Given the description of an element on the screen output the (x, y) to click on. 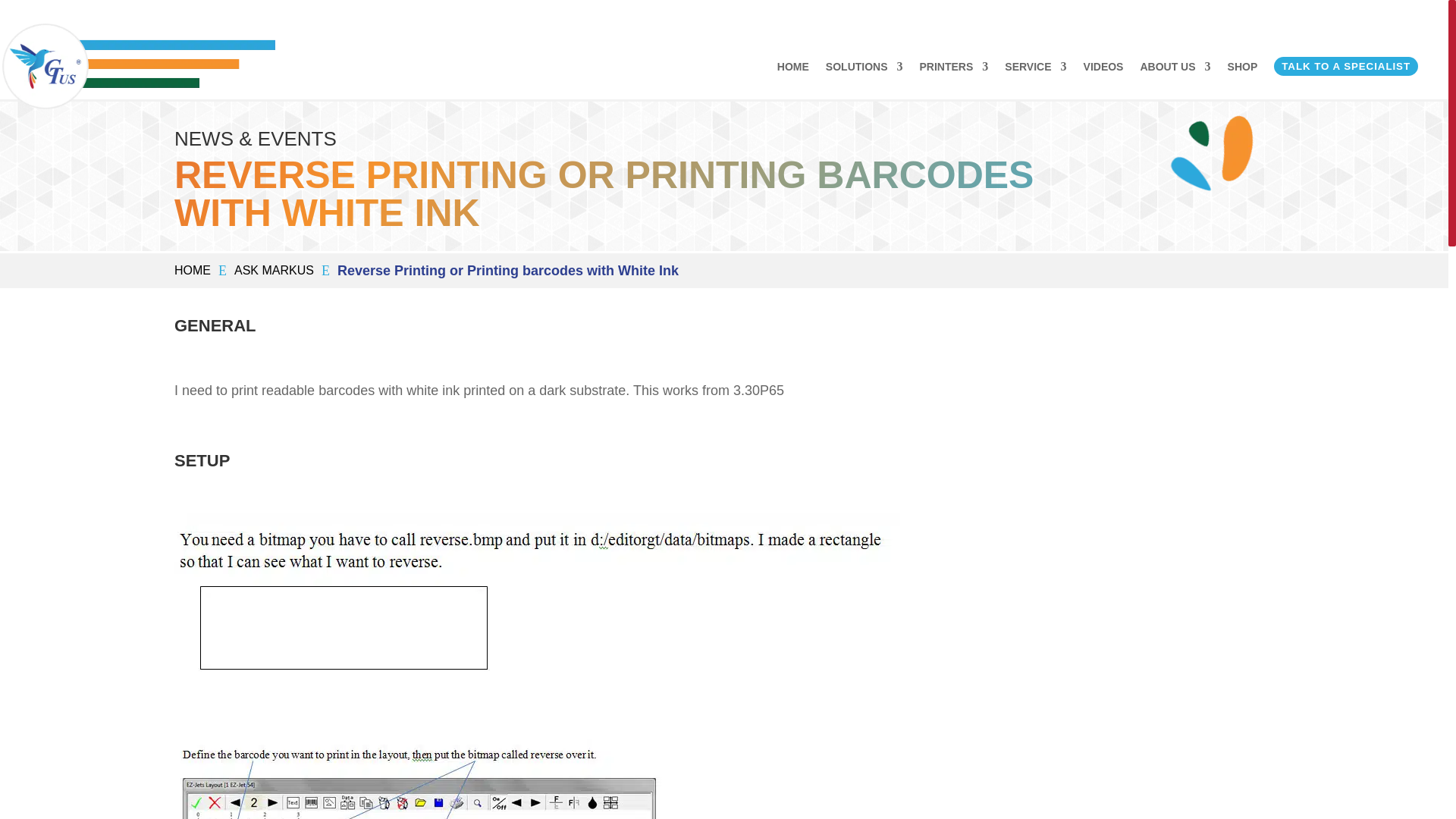
ABOUT US (1174, 66)
ASK MARKUS (274, 270)
HOME (192, 270)
SERVICE (1034, 66)
PRINTERS (954, 66)
TALK TO A SPECIALIST (1346, 66)
SOLUTIONS (863, 66)
TALK TO A SPECIALIST (1346, 66)
